Given the description of an element on the screen output the (x, y) to click on. 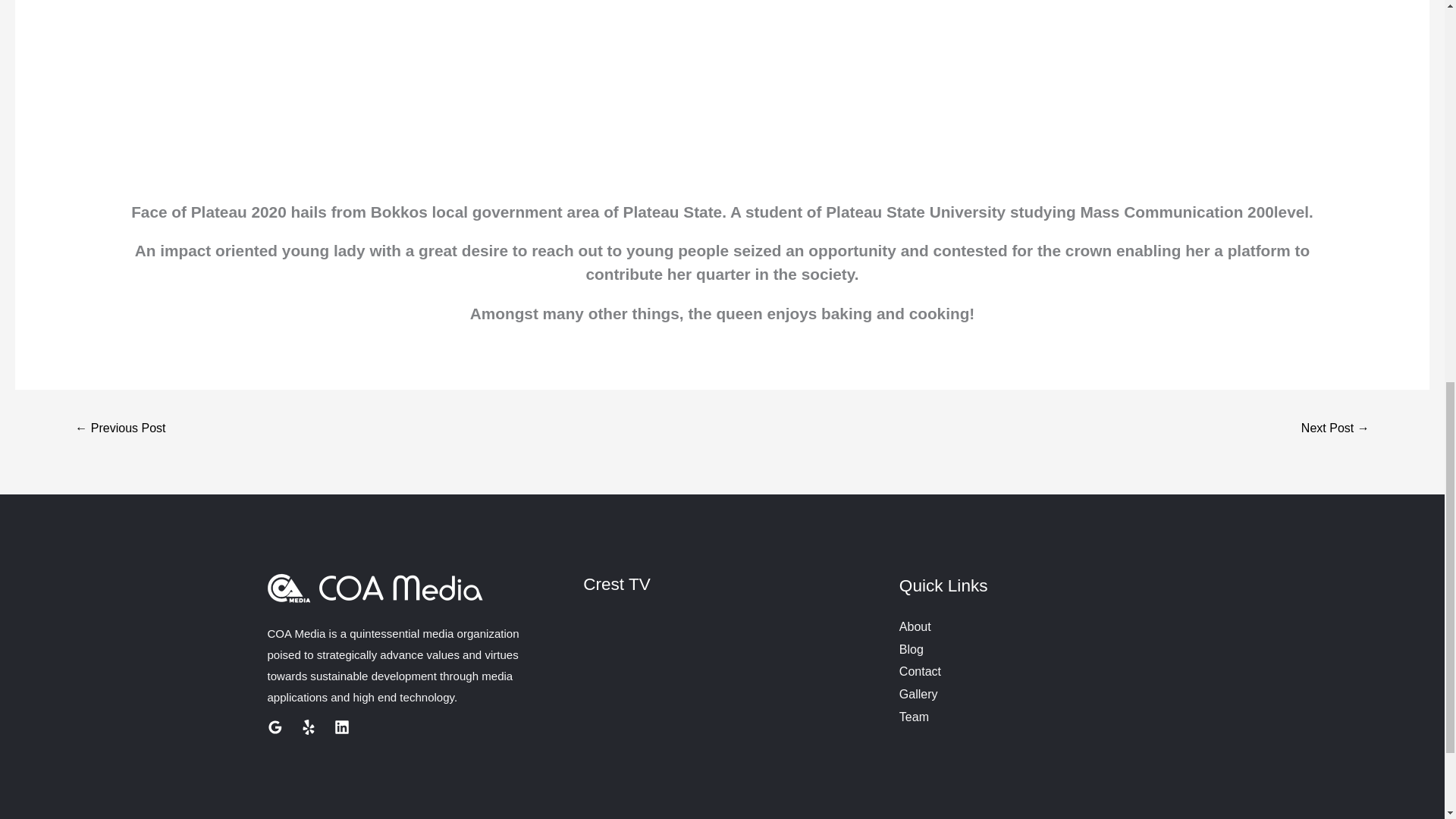
Team (913, 716)
About (915, 626)
PLATEAU MAN OF THE YEAR 2019 (1334, 429)
National Summit for Emerging Nigerian Leaders (119, 429)
Gallery (918, 694)
Blog (911, 649)
Contact (919, 671)
